Given the description of an element on the screen output the (x, y) to click on. 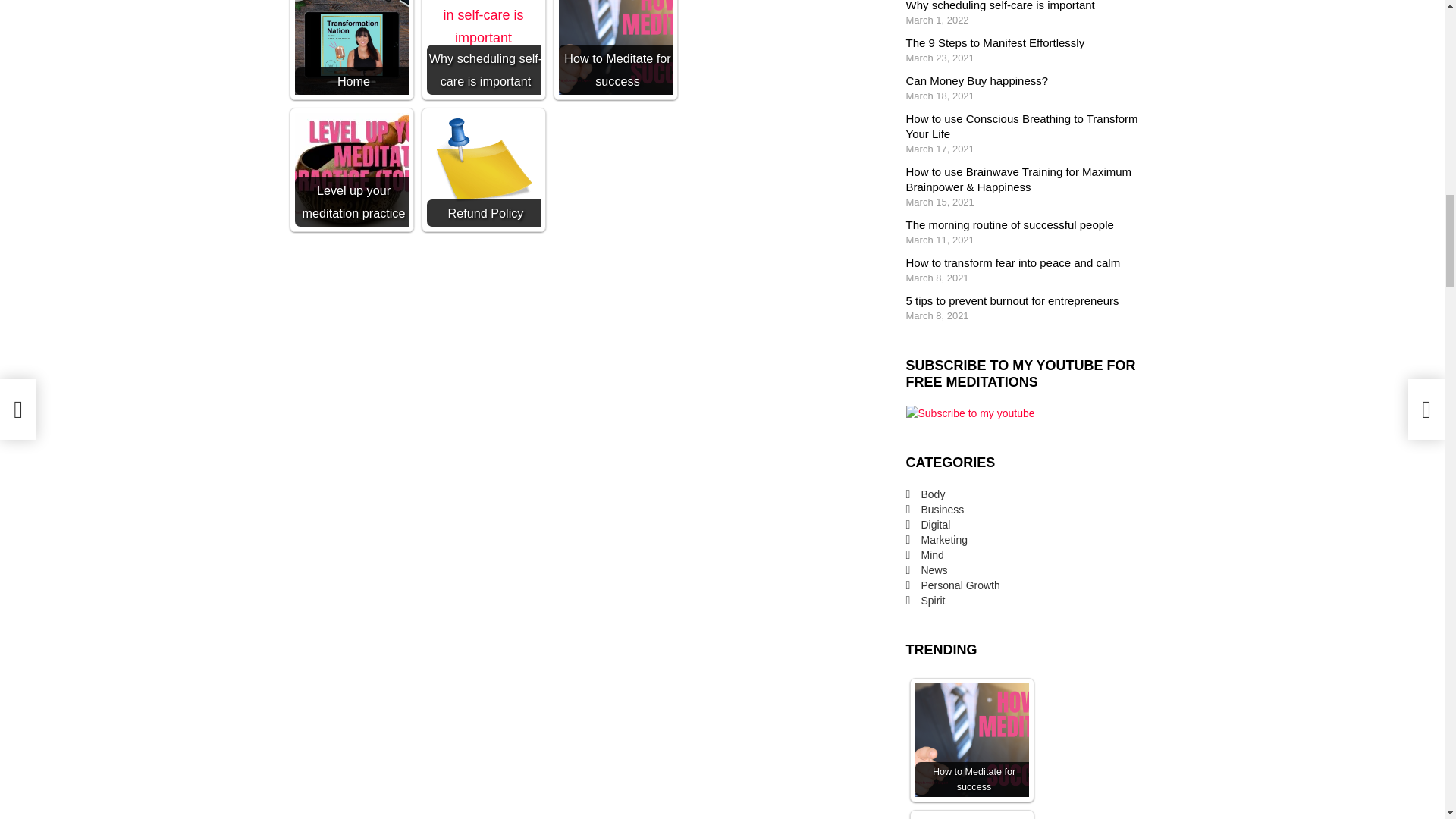
Refund Policy (483, 169)
Why scheduling self-care is important (483, 24)
Level up your meditation practice (350, 169)
Why scheduling self-care is important (483, 47)
Home (350, 47)
Level up your meditation practice (350, 169)
How to Meditate for success (614, 47)
Refund Policy (483, 169)
How to Meditate for success (614, 47)
Home (350, 47)
